Given the description of an element on the screen output the (x, y) to click on. 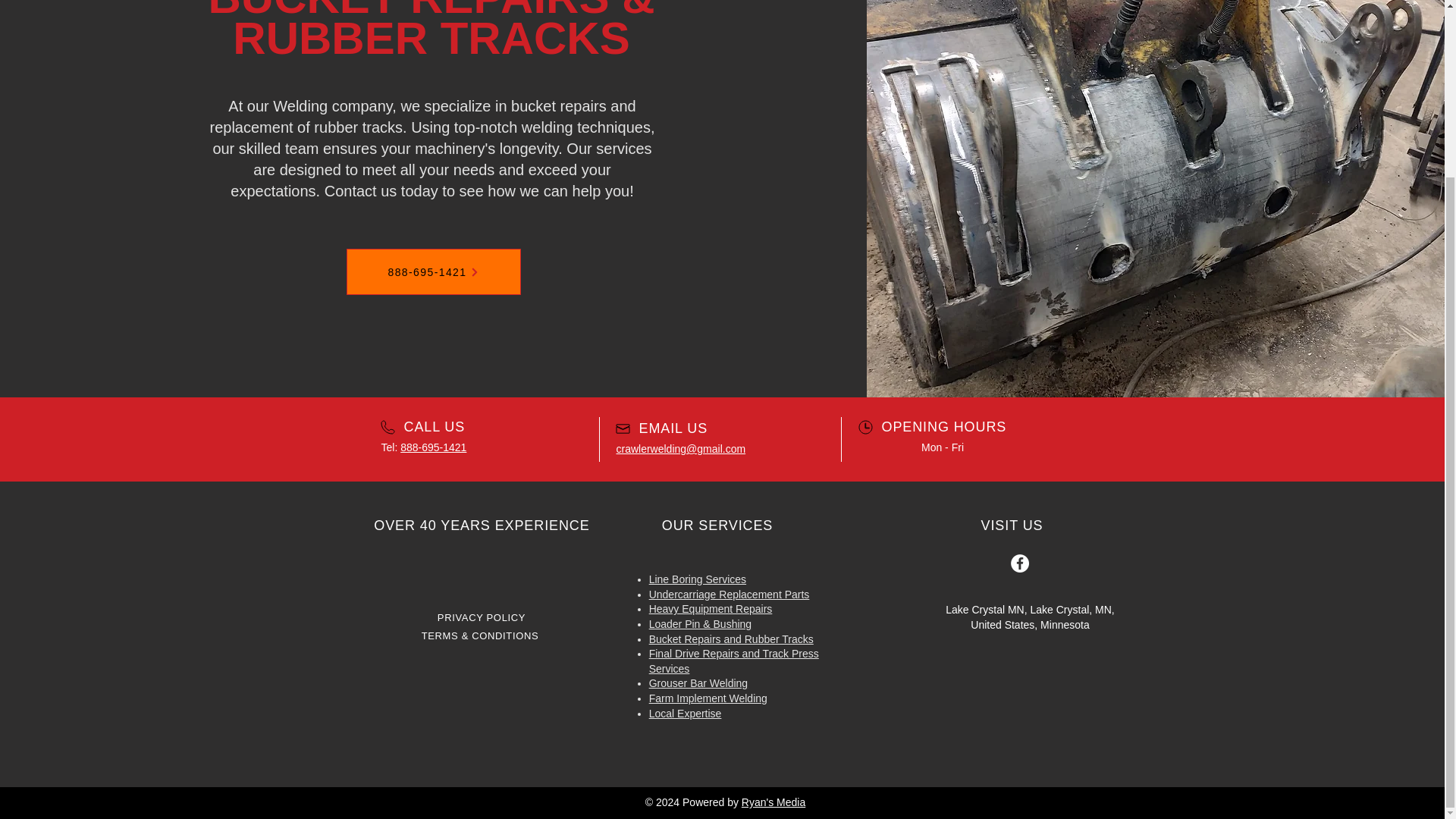
Line Boring Services (697, 579)
Farm Implement Welding (708, 698)
Local Expertise (685, 713)
Heavy Equipment Repairs (711, 608)
Ryan's Media (773, 802)
Bucket Repairs and Rubber Tracks (731, 639)
888-695-1421 (432, 447)
888-695-1421 (432, 271)
Grouser Bar Welding (698, 683)
Final Drive Repairs and Track Press Services (733, 660)
